Given the description of an element on the screen output the (x, y) to click on. 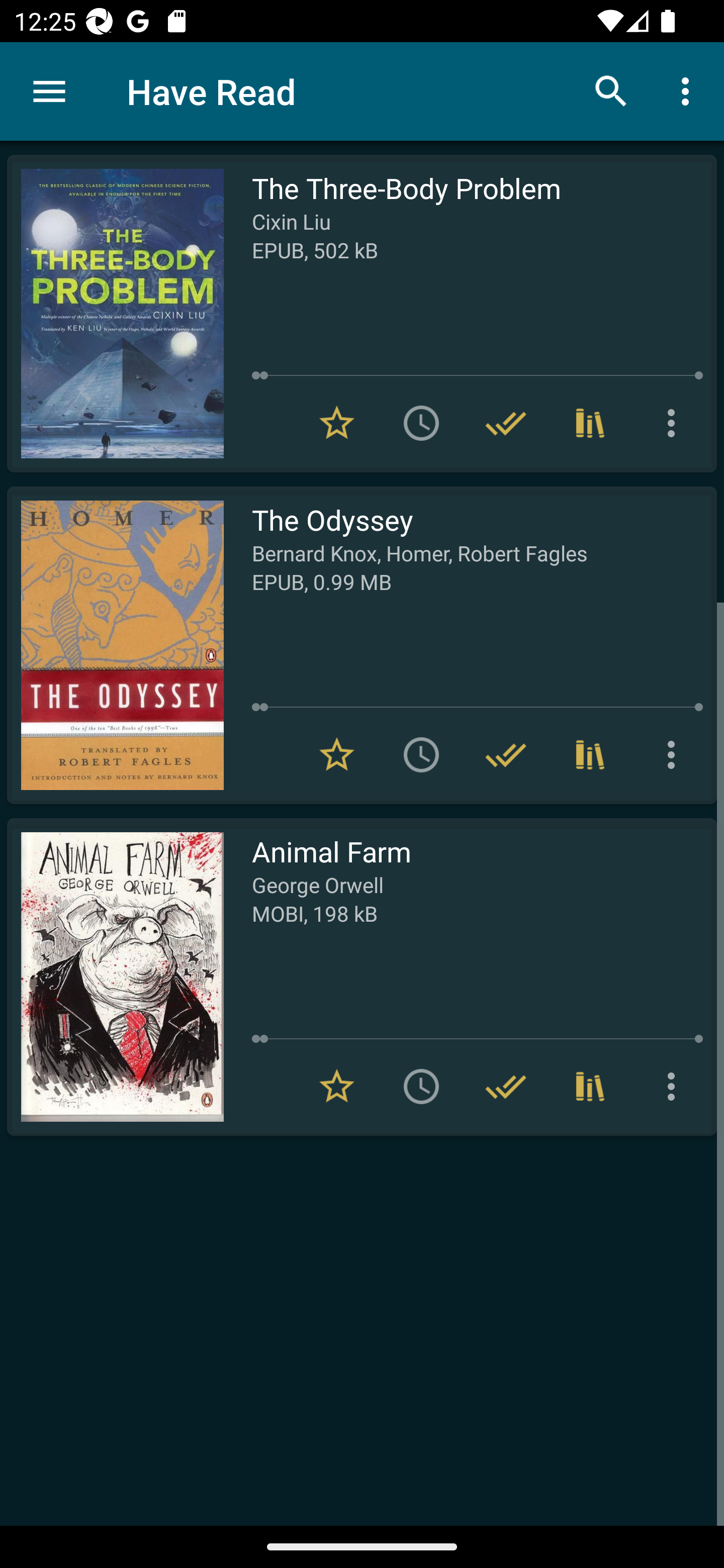
Menu (49, 91)
Search books & documents (611, 90)
More options (688, 90)
Read The Three-Body Problem (115, 313)
Remove from Favorites (336, 423)
Add to To read (421, 423)
Remove from Have read (505, 423)
Collections (1) (590, 423)
More options (674, 423)
Read The Odyssey (115, 645)
Remove from Favorites (336, 753)
Add to To read (421, 753)
Remove from Have read (505, 753)
Collections (2) (590, 753)
More options (674, 753)
Read Animal Farm (115, 976)
Remove from Favorites (336, 1086)
Add to To read (421, 1086)
Remove from Have read (505, 1086)
Collections (1) (590, 1086)
More options (674, 1086)
